Given the description of an element on the screen output the (x, y) to click on. 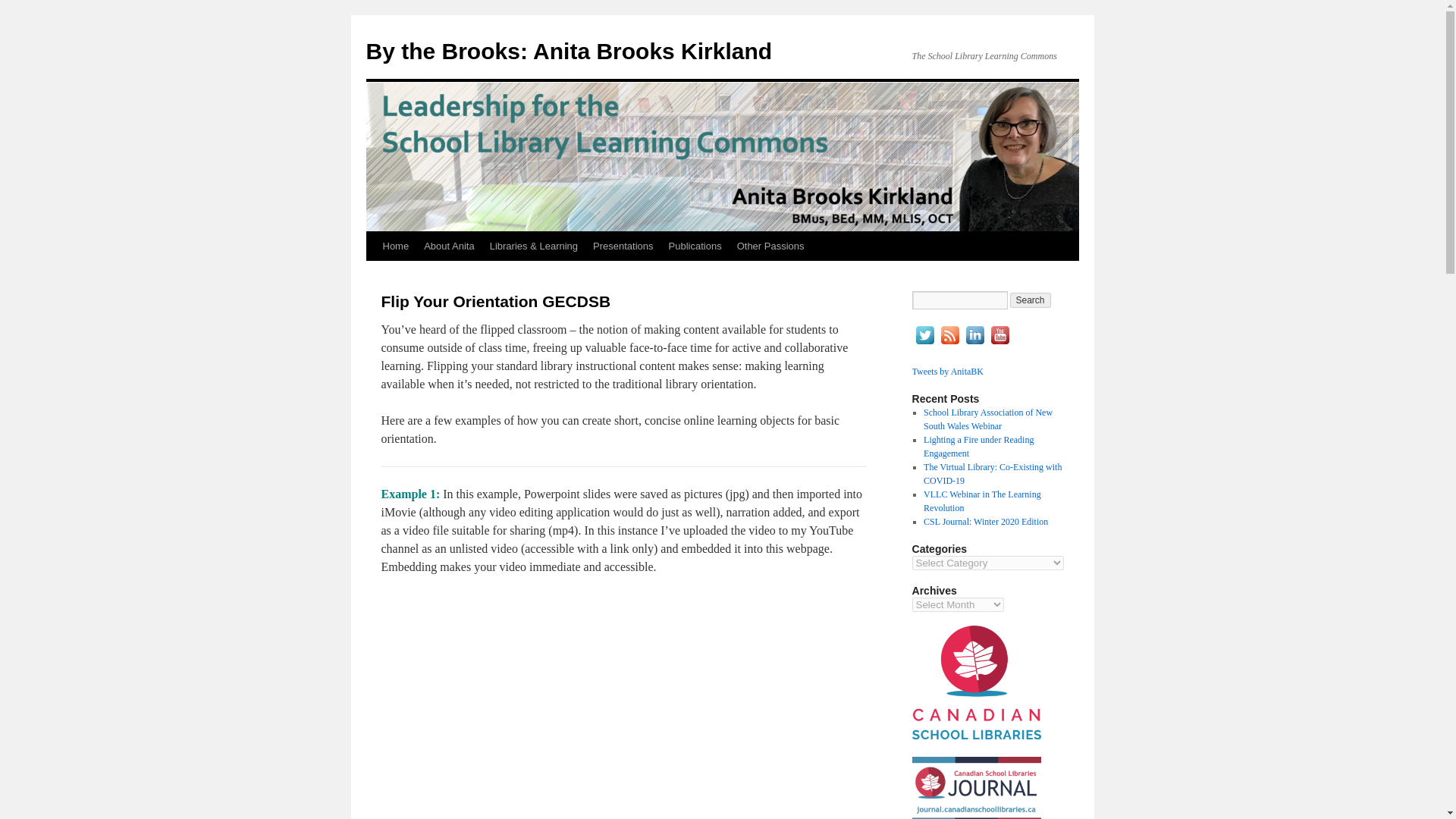
Other Passions (770, 246)
By the Brooks: Anita Brooks Kirkland (568, 50)
Visit Us On Twitter (923, 344)
Presentations (623, 246)
Search (1030, 299)
Home (395, 246)
About Anita (448, 246)
Visit Us On Linkedin (973, 344)
Check Our Feed (949, 344)
Publications (695, 246)
